Given the description of an element on the screen output the (x, y) to click on. 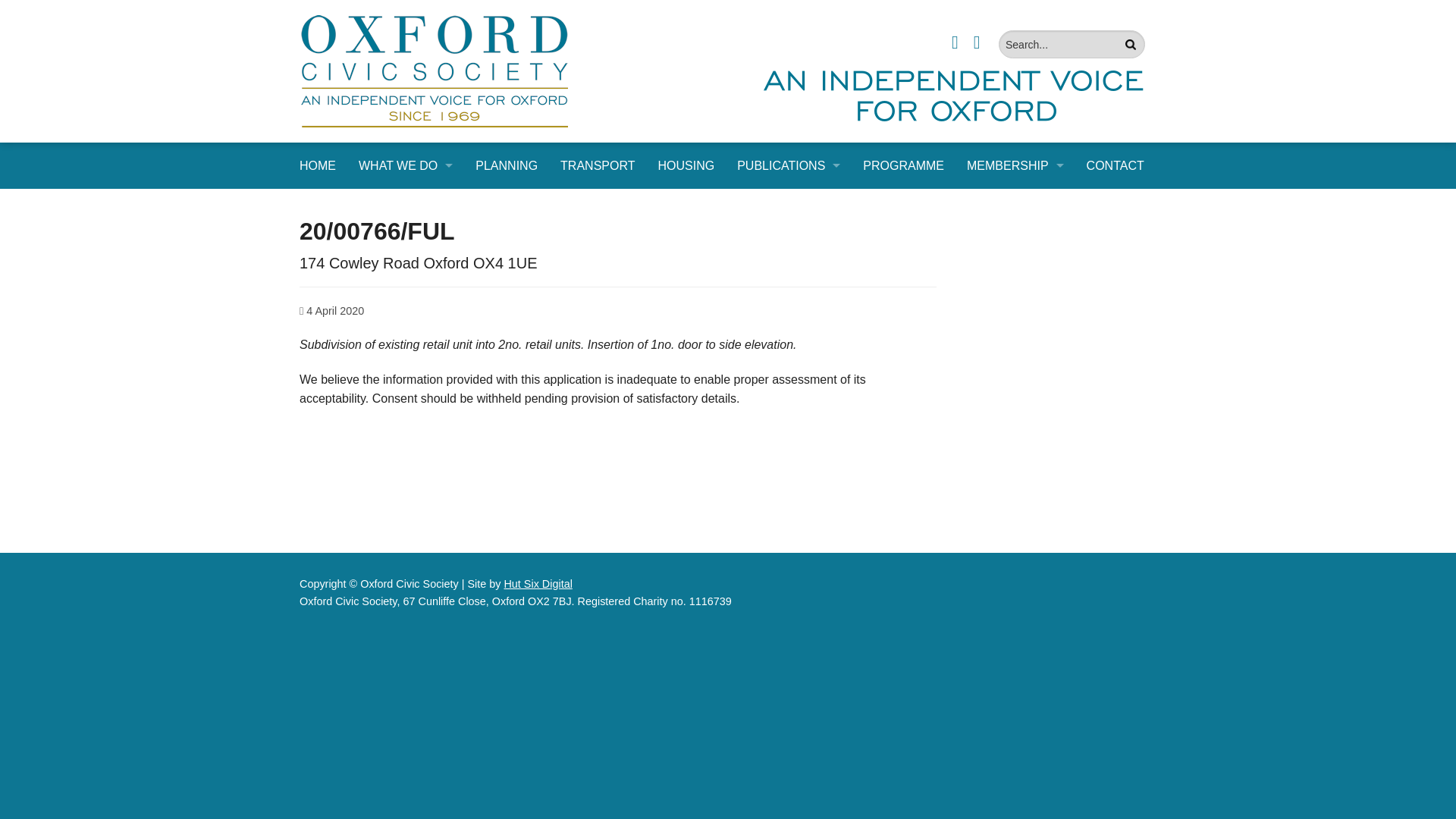
BOOKS AND PAMPHLETS (788, 239)
PUBLICATIONS (788, 165)
HOUSING (685, 165)
Search... (1071, 44)
STREETS FOR PEOPLE (405, 478)
PLANNING (405, 239)
HOME (317, 165)
TRANSPORT (405, 274)
TRANSPORT (597, 165)
VOLUNTEERS (1015, 239)
